Given the description of an element on the screen output the (x, y) to click on. 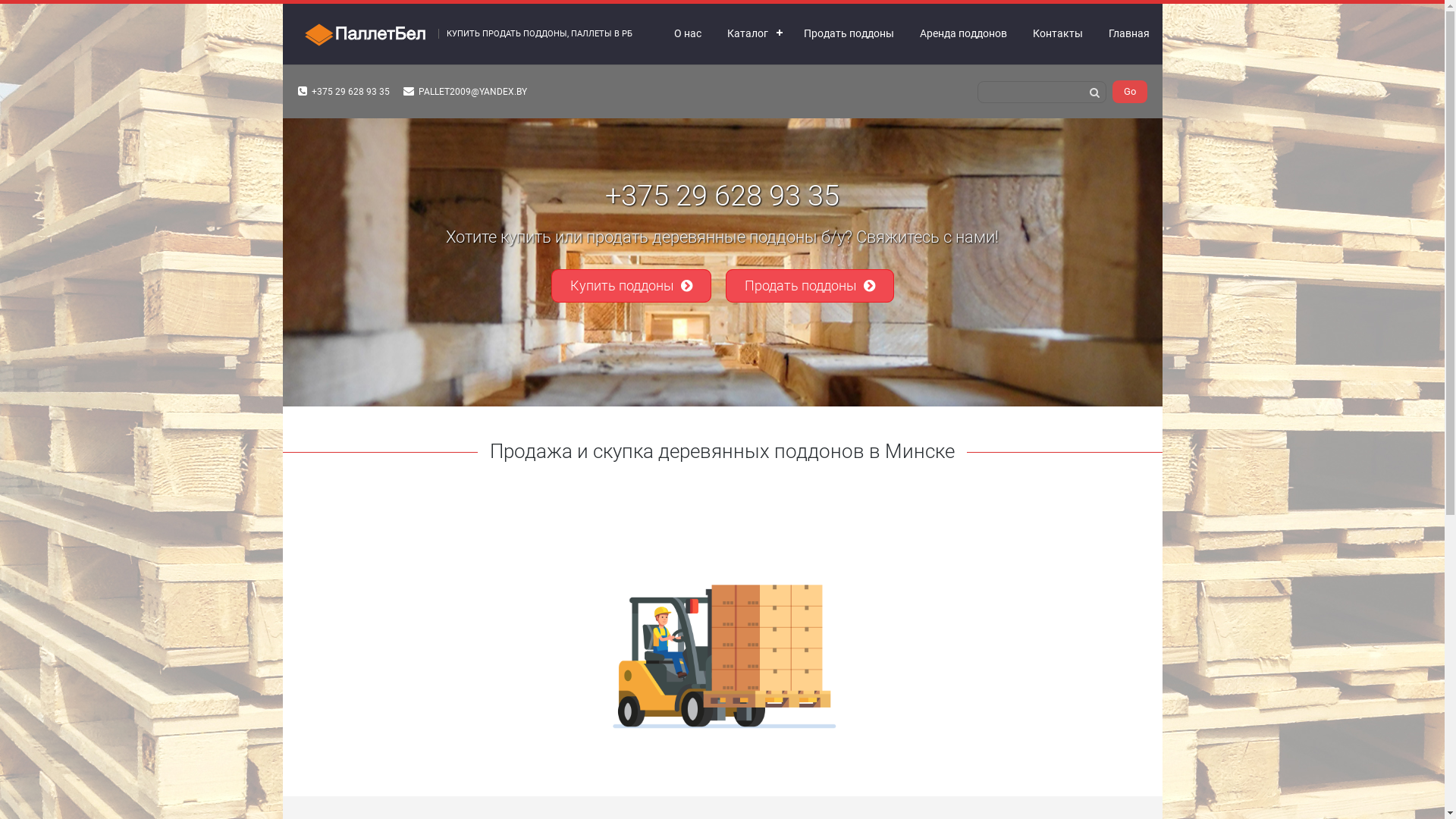
Go Element type: text (1128, 91)
